Given the description of an element on the screen output the (x, y) to click on. 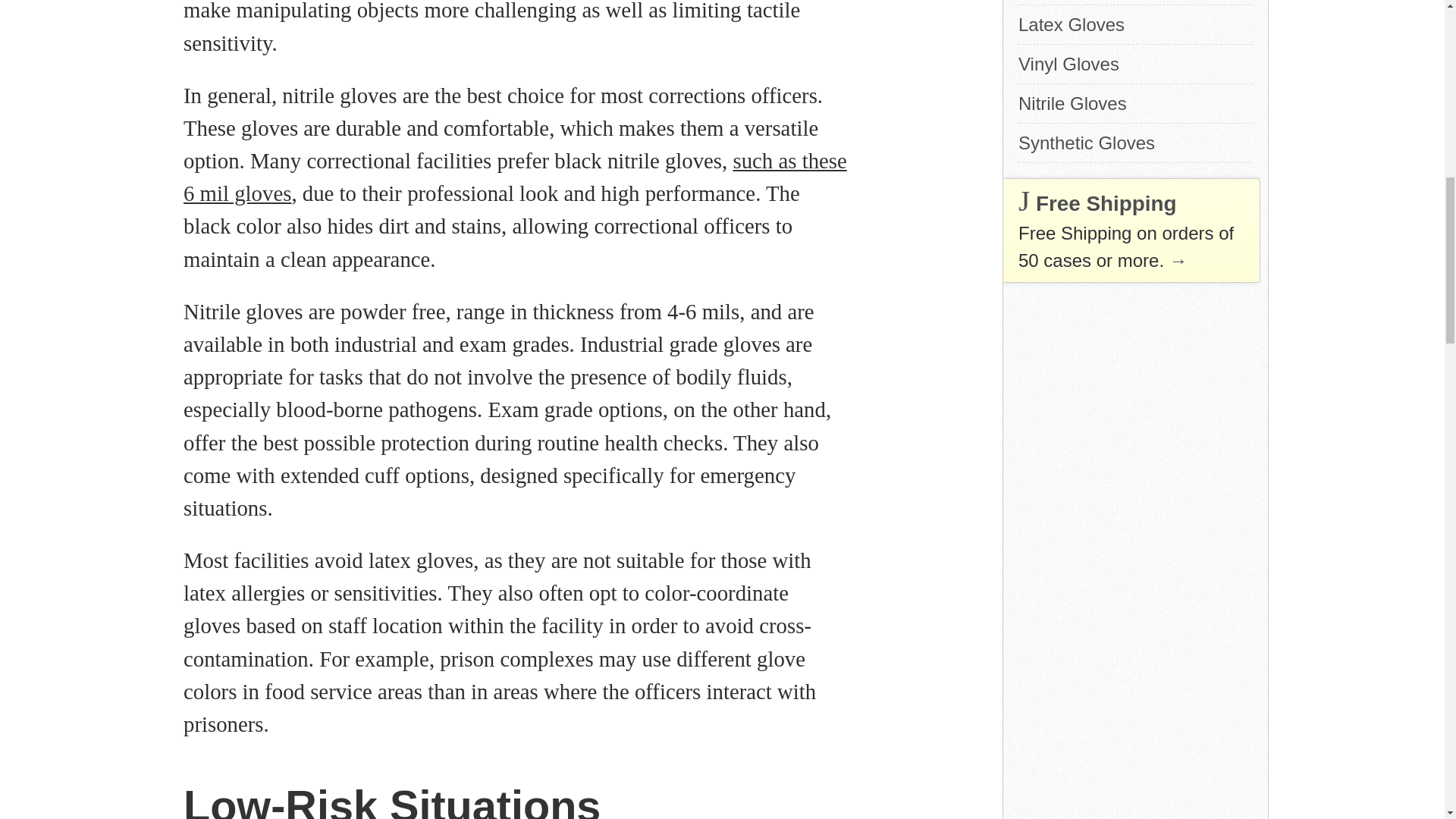
Vinyl Gloves (1134, 64)
Chloroprene Gloves (1134, 2)
such as these 6 mil gloves (515, 176)
Latex Gloves (1134, 24)
Nitrile Gloves (1134, 103)
Synthetic Gloves (1134, 142)
